Given the description of an element on the screen output the (x, y) to click on. 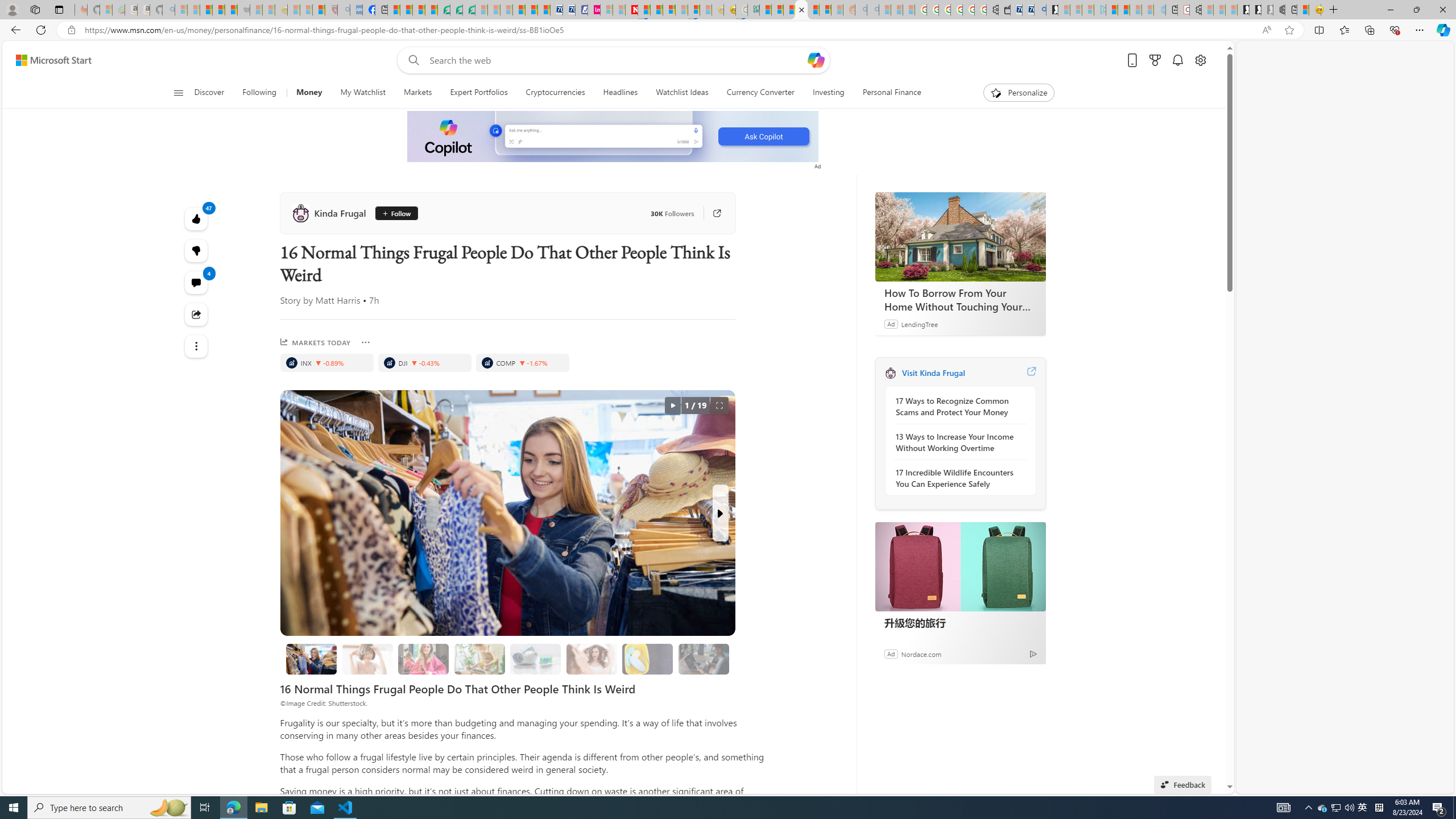
Watchlist Ideas (682, 92)
LendingTree (919, 323)
6. Soap Saving (646, 659)
